Given the description of an element on the screen output the (x, y) to click on. 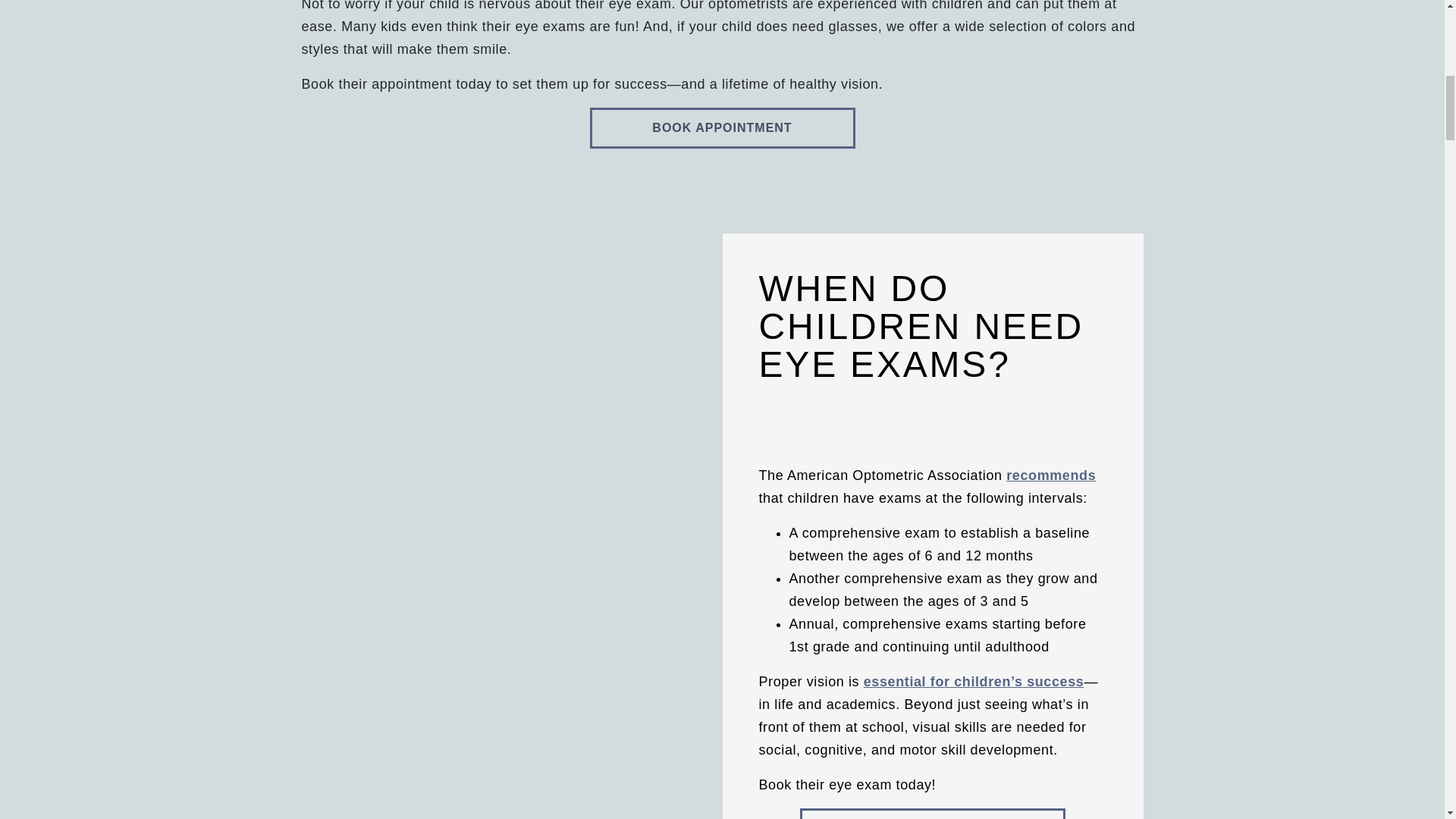
recommends (1051, 475)
BOOK APPOINTMENT (722, 127)
BOOK APPOINTMENT (932, 813)
